Given the description of an element on the screen output the (x, y) to click on. 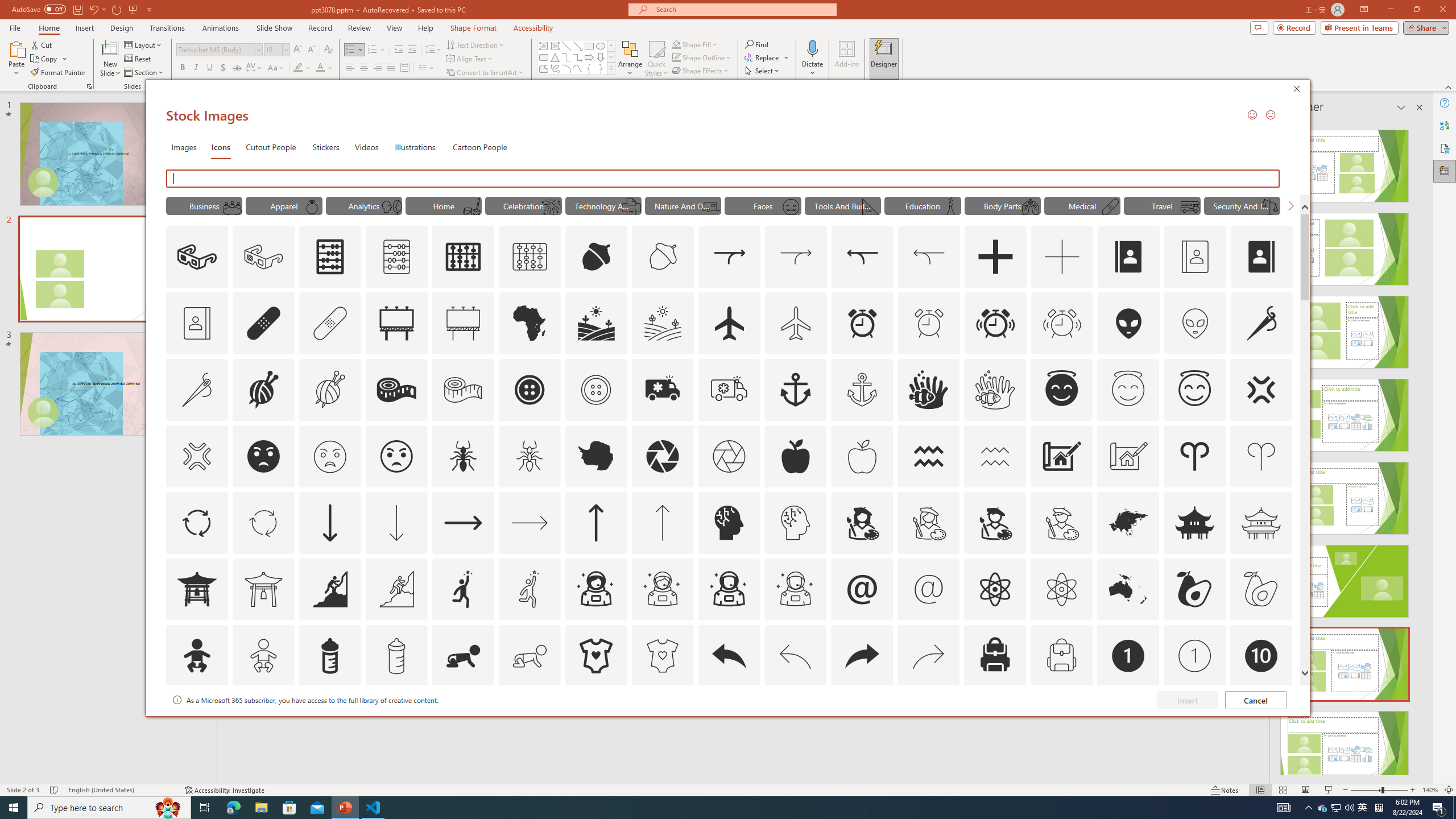
AutomationID: Icons_TriangleRuler_M (870, 206)
AutomationID: Icons_AlterationsTailoring2 (395, 389)
AutomationID: Icons_Abacus1_M (529, 256)
AutomationID: Icons_At_M (928, 588)
Line Arrow (577, 45)
Search Icons (723, 178)
AutomationID: Icons_AstronautMale (729, 588)
